Given the description of an element on the screen output the (x, y) to click on. 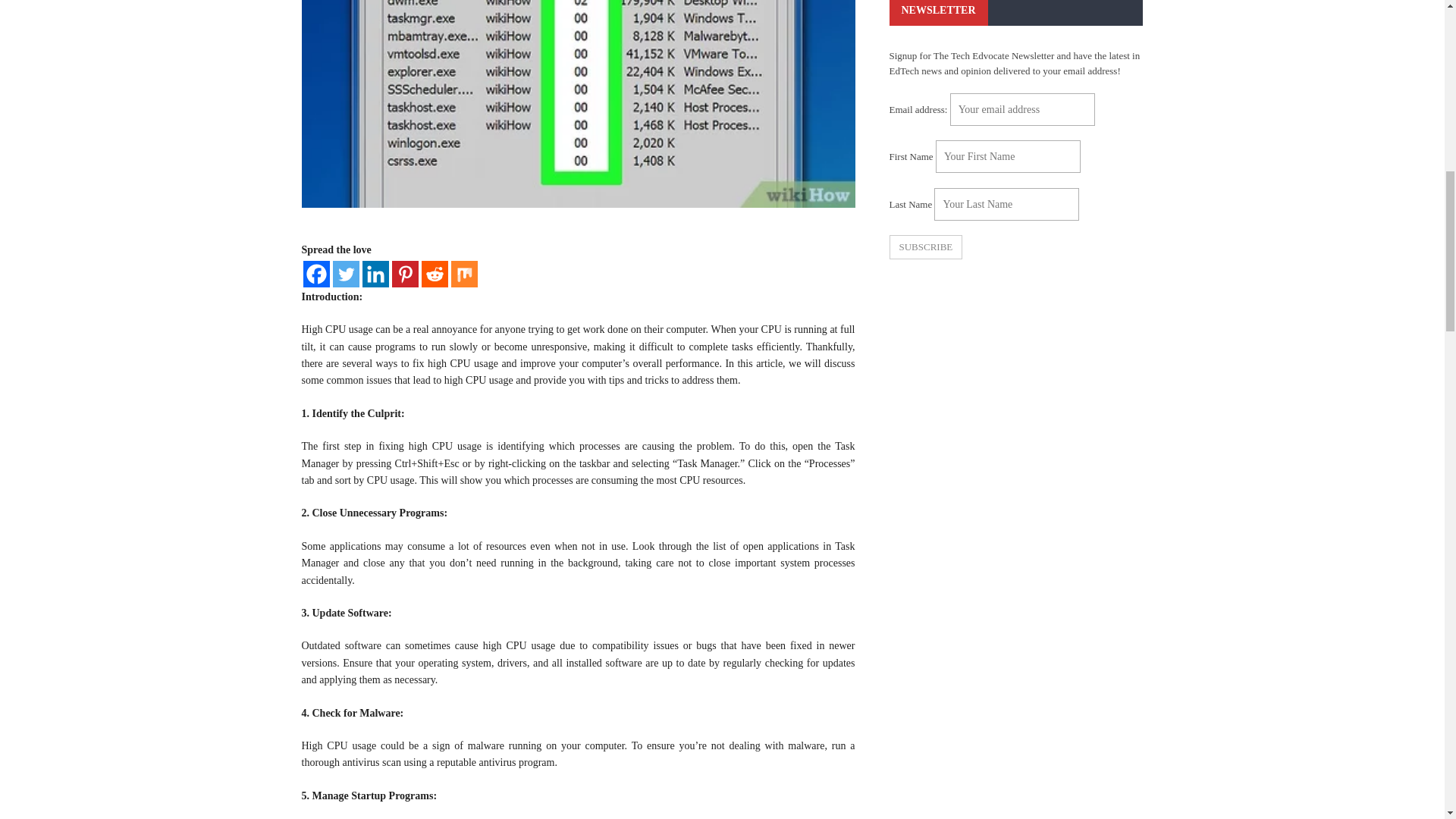
Reddit (435, 274)
Linkedin (375, 274)
Mix (463, 274)
Pinterest (404, 274)
Facebook (316, 274)
Twitter (344, 274)
Subscribe (925, 247)
